Given the description of an element on the screen output the (x, y) to click on. 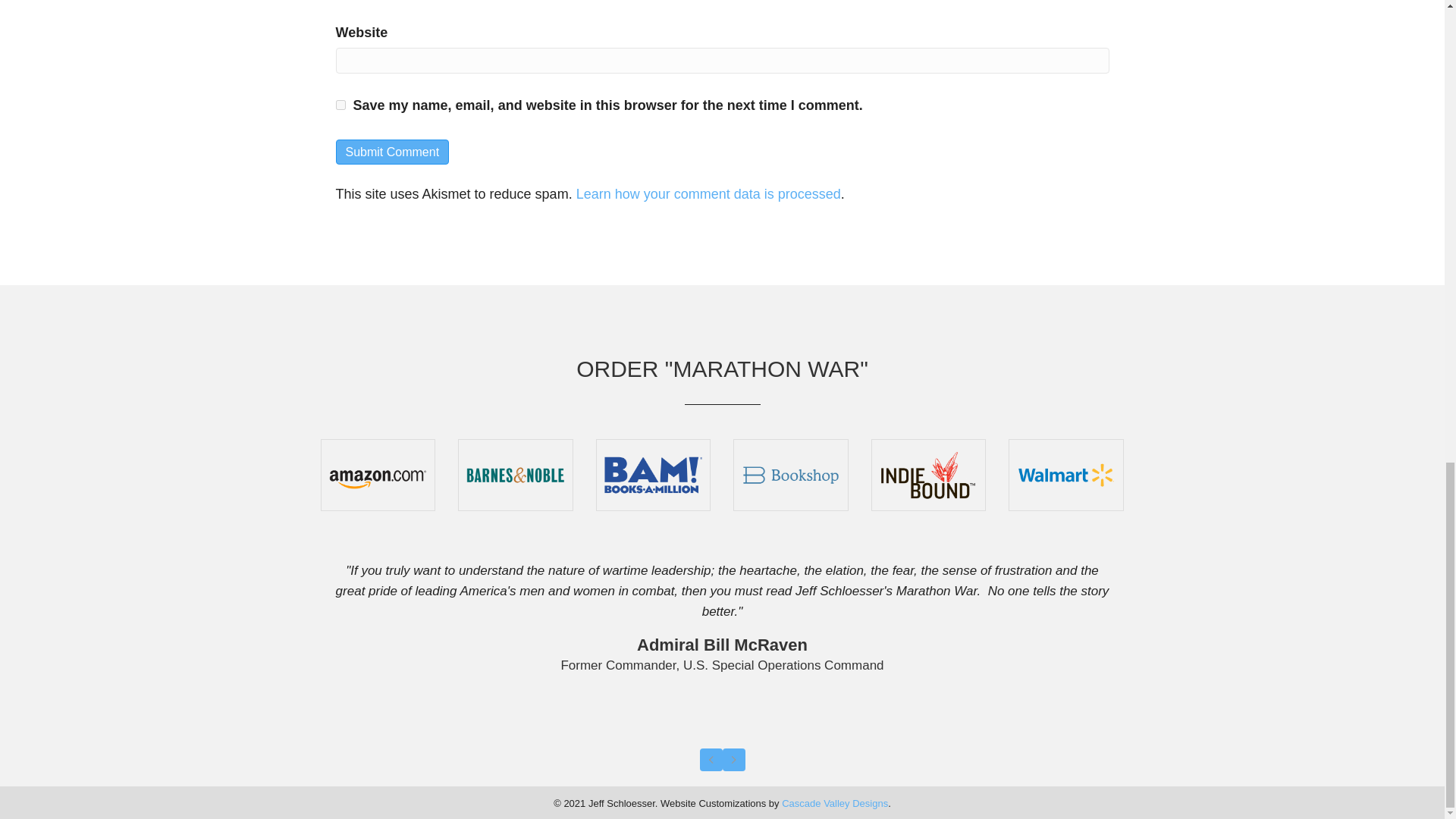
Learn how your comment data is processed (708, 193)
Submit Comment (391, 151)
yes (339, 104)
Next (733, 759)
Submit Comment (391, 151)
Previous (710, 759)
Cascade Valley Designs (834, 803)
